Given the description of an element on the screen output the (x, y) to click on. 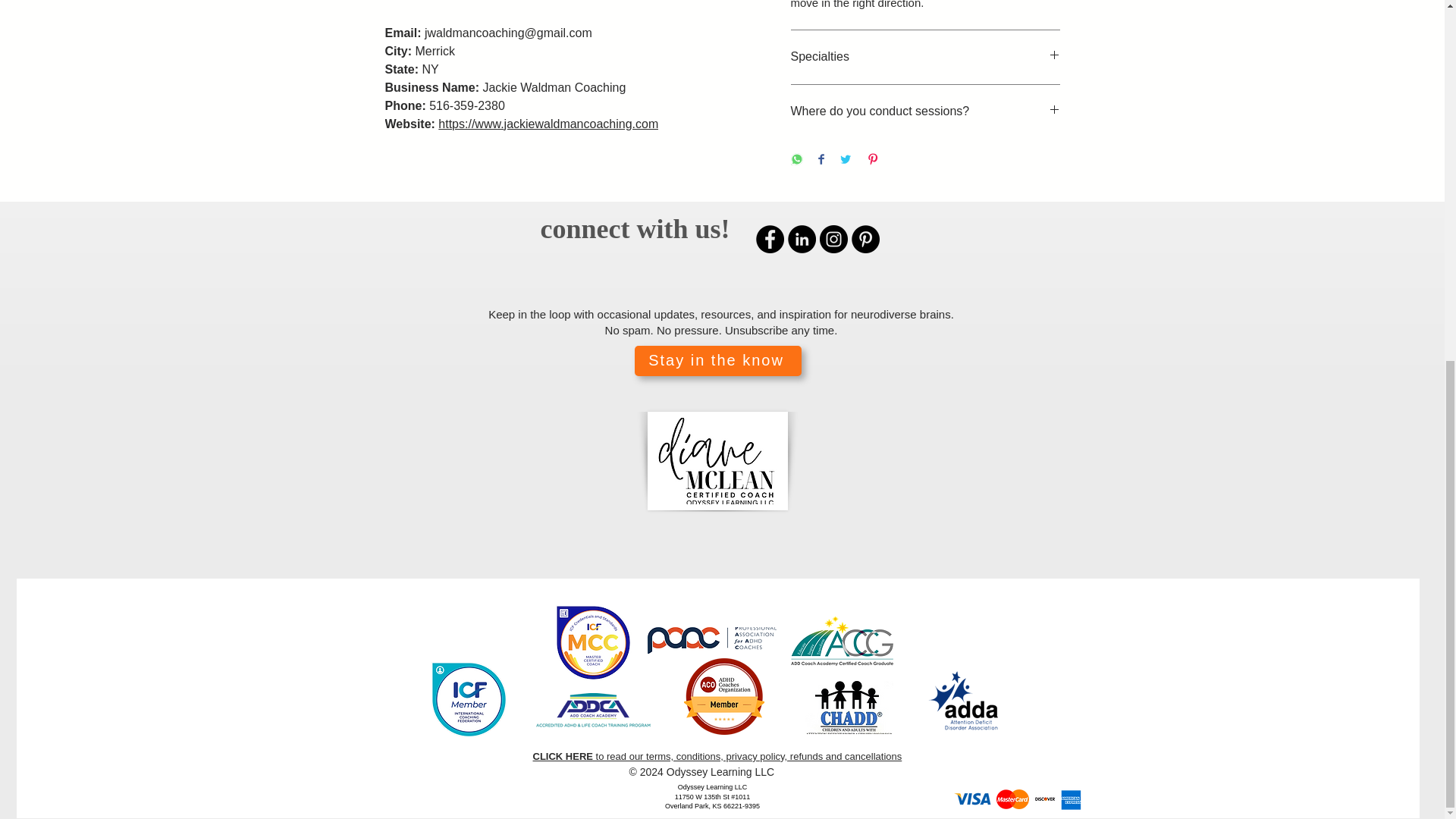
Specialties (924, 56)
Stay in the know (716, 360)
Where do you conduct sessions? (924, 111)
discover.png (1043, 798)
